Given the description of an element on the screen output the (x, y) to click on. 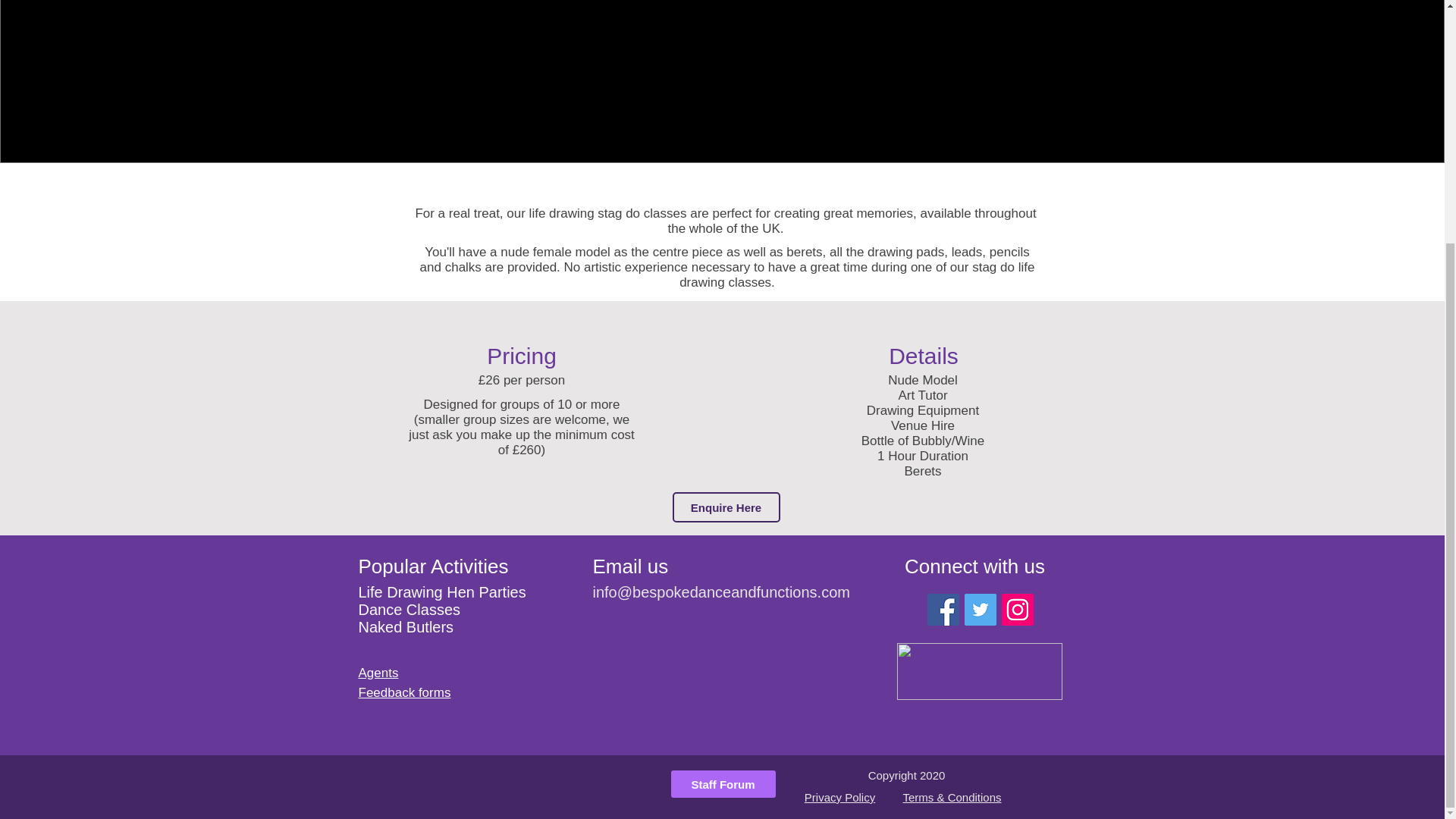
Privacy Policy (840, 797)
Staff Forum (722, 784)
Life Drawing Hen Parties (441, 591)
Naked Butlers (405, 627)
Agents (377, 672)
Feedback forms (403, 692)
Dance Classes (409, 609)
Enquire Here (724, 507)
